Given the description of an element on the screen output the (x, y) to click on. 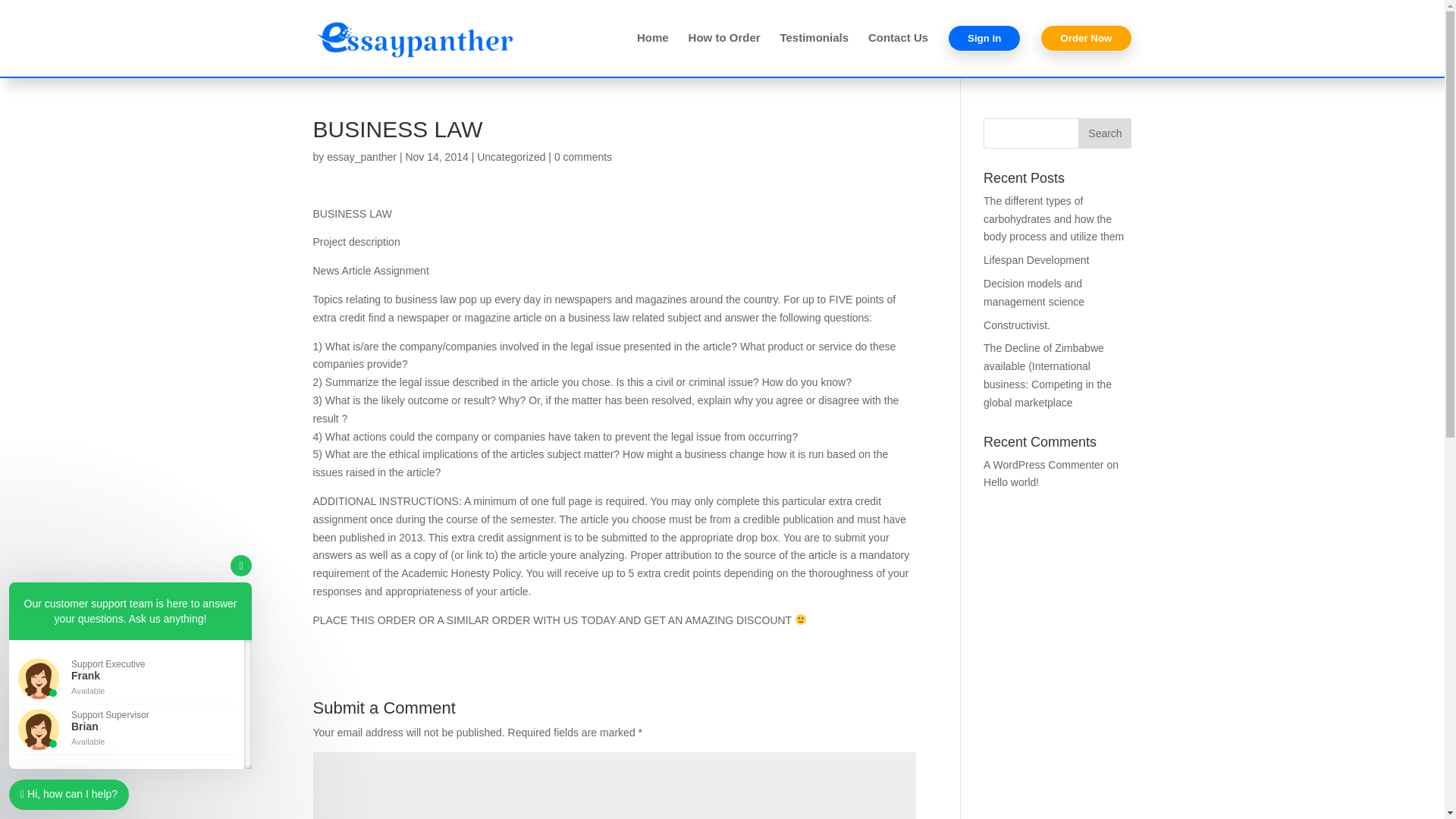
Decision models and management science (1034, 292)
Lifespan Development (1036, 259)
How to Order (724, 49)
Testimonials (813, 49)
Sign in (983, 38)
Constructivist. (1016, 325)
Uncategorized (510, 156)
Search (1104, 132)
Order Now (1086, 50)
Home (652, 49)
Search (1104, 132)
Contact Us (897, 49)
Order Now (1086, 38)
Hello world! (1011, 481)
Sign in (983, 50)
